Given the description of an element on the screen output the (x, y) to click on. 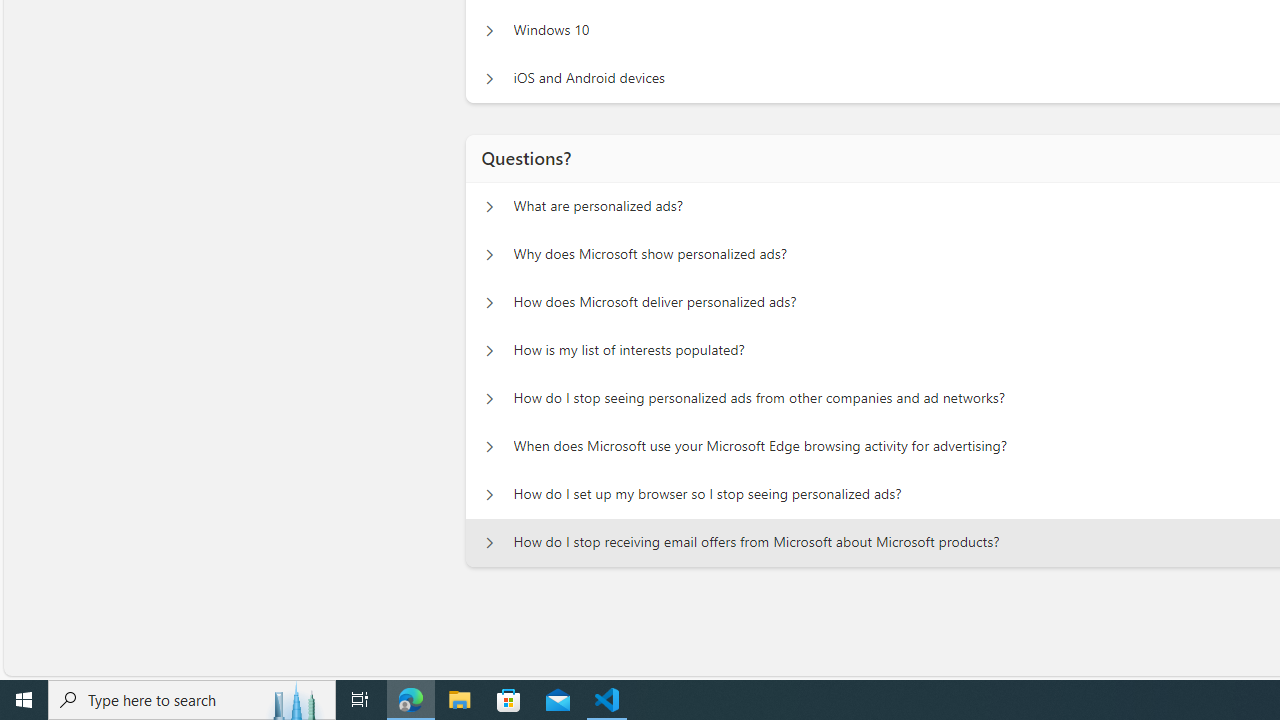
Questions? Why does Microsoft show personalized ads? (489, 255)
Questions? What are personalized ads? (489, 206)
Questions? How is my list of interests populated? (489, 350)
Questions? How does Microsoft deliver personalized ads? (489, 302)
Manage personalized ads on your device Windows 10 (489, 30)
